Given the description of an element on the screen output the (x, y) to click on. 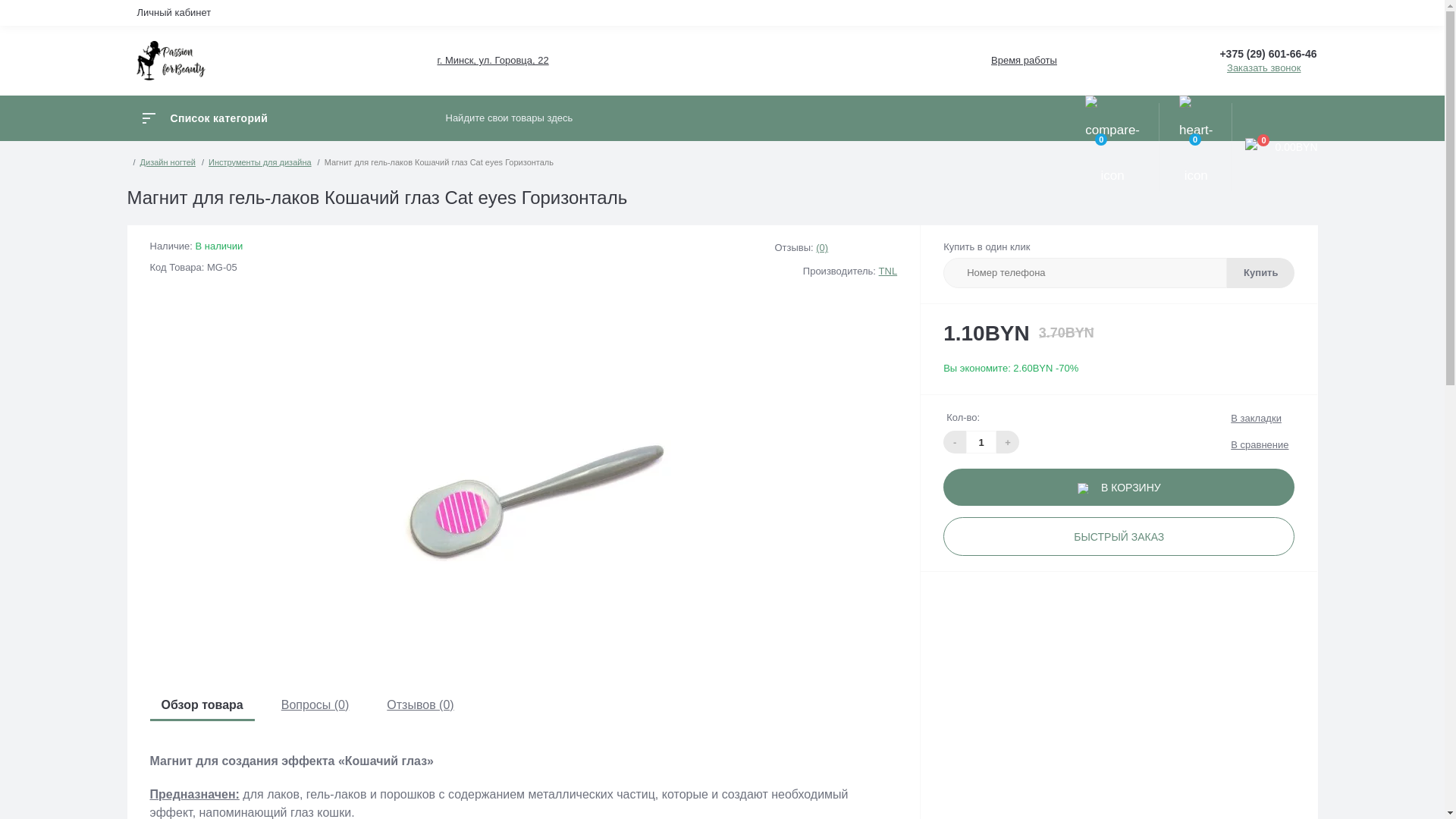
PFB.BY Element type: hover (171, 60)
- Element type: text (954, 441)
+ Element type: text (1007, 441)
TNL Element type: text (887, 270)
0
0.00BYN Element type: text (1274, 146)
0 Element type: text (1112, 146)
+375 (29) 601-66-46 Element type: text (1267, 54)
0 Element type: text (1195, 146)
(0) Element type: text (821, 247)
